Given the description of an element on the screen output the (x, y) to click on. 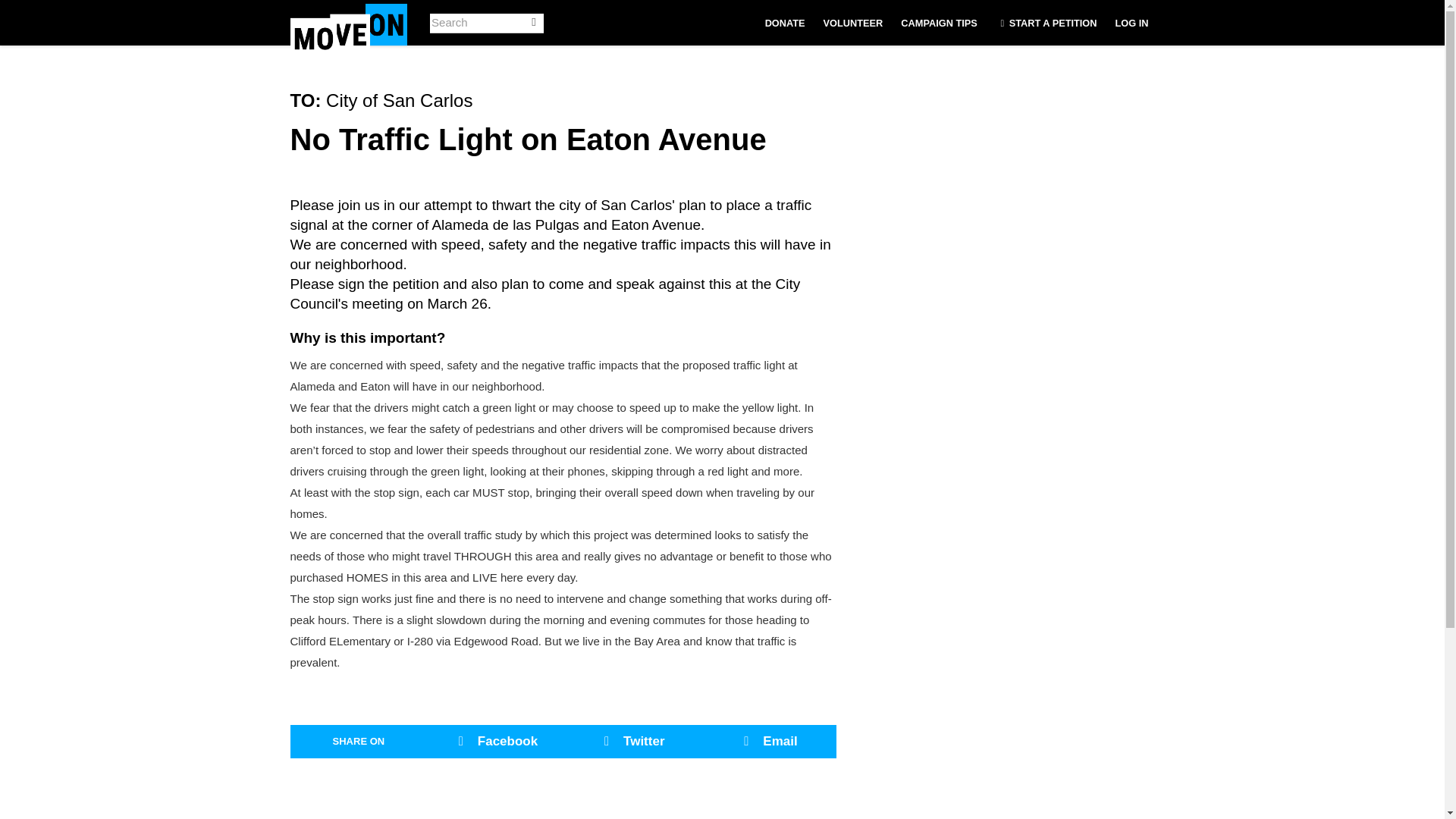
Share on Twitter (631, 741)
Share on Facebook (494, 741)
Email (766, 741)
Share via Email (766, 741)
CAMPAIGN TIPS (938, 22)
START A PETITION (1046, 22)
Twitter (631, 741)
DONATE (784, 22)
Facebook (494, 741)
VOLUNTEER (852, 22)
